Given the description of an element on the screen output the (x, y) to click on. 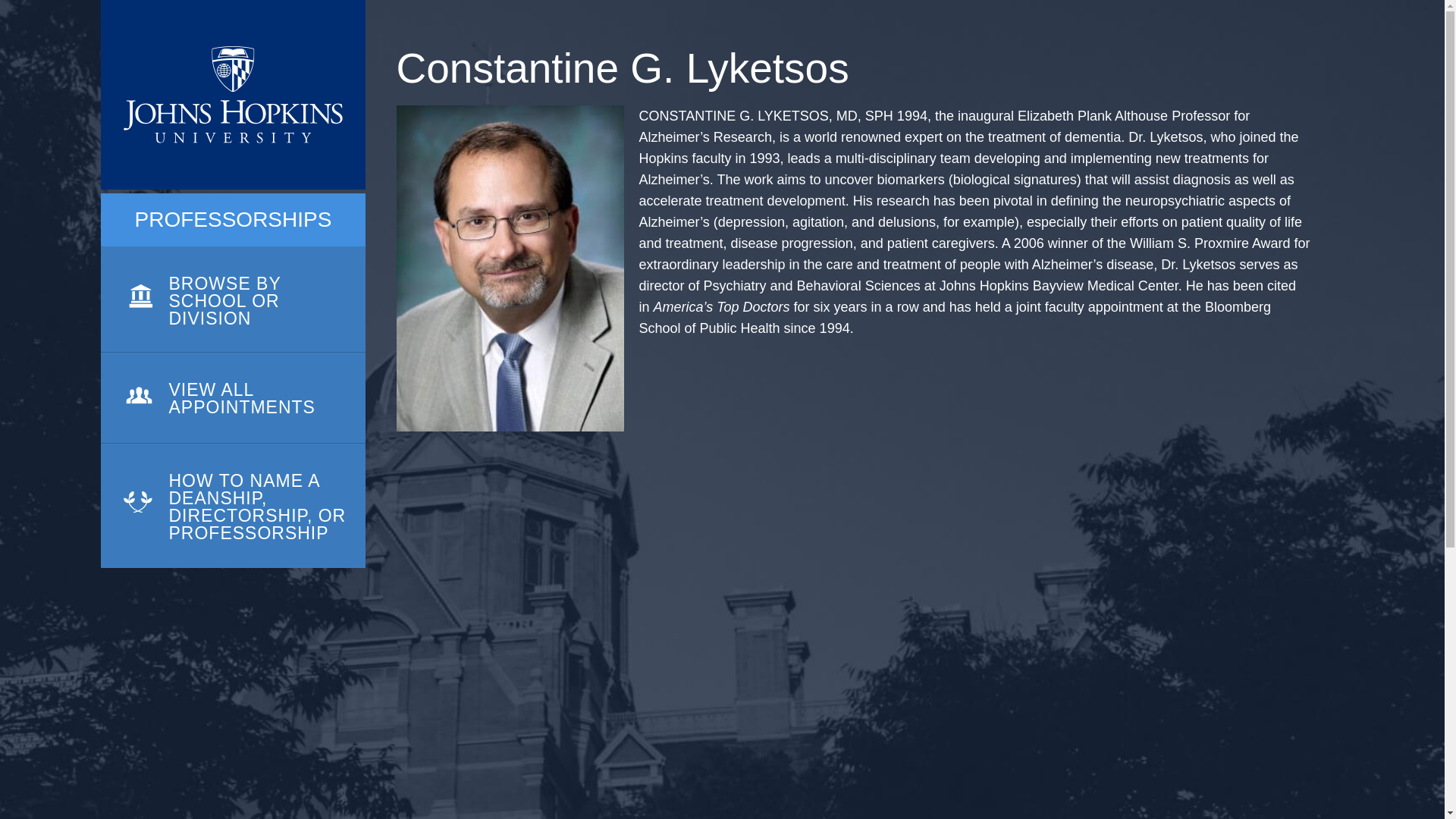
HOW TO NAME A DEANSHIP, DIRECTORSHIP, OR PROFESSORSHIP (232, 505)
VIEW ALL APPOINTMENTS (232, 397)
PROFESSORSHIPS (233, 219)
JHU Professorships (232, 94)
BROWSE BY SCHOOL OR DIVISION (232, 299)
